Given the description of an element on the screen output the (x, y) to click on. 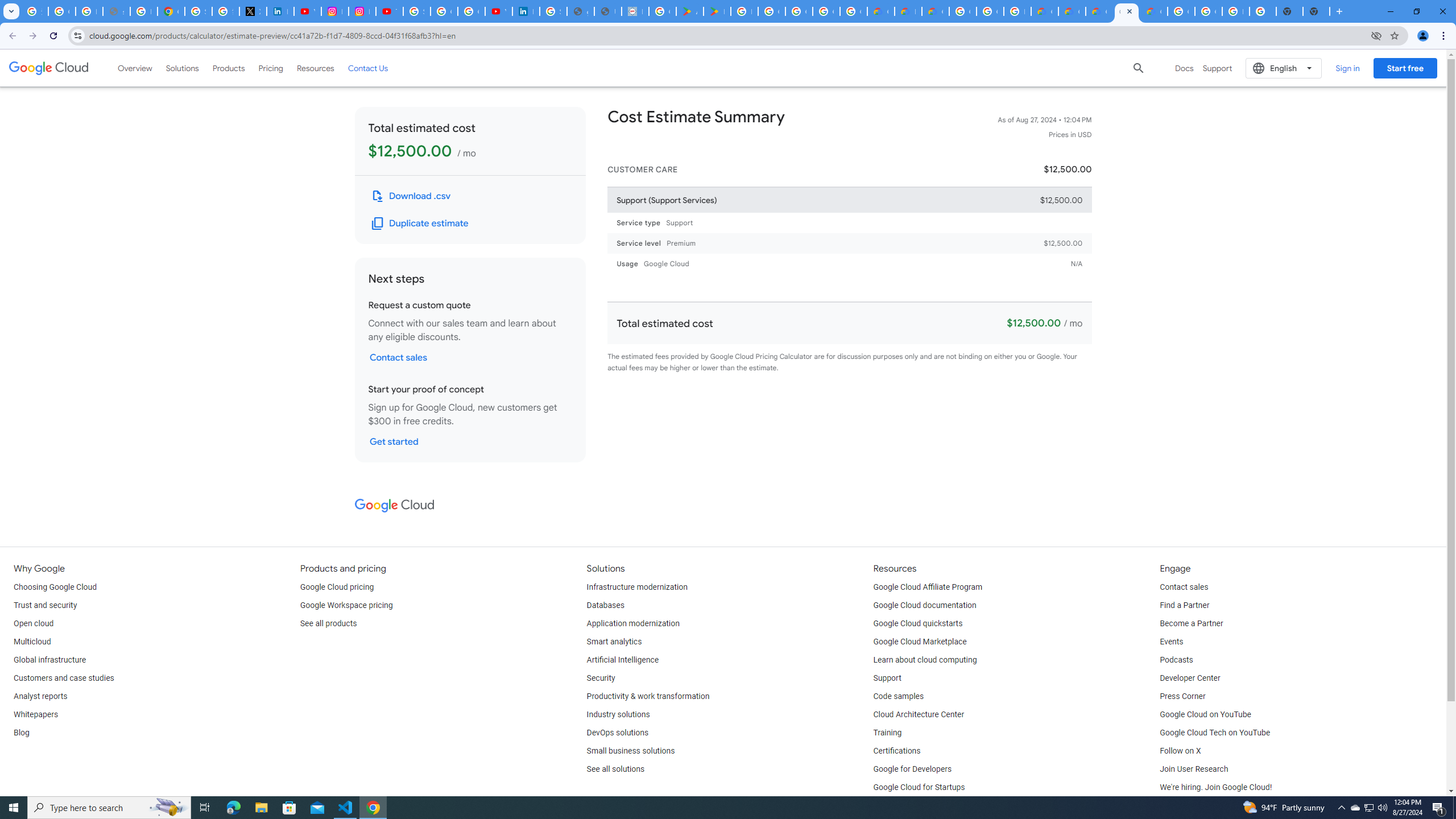
Google Cloud quickstarts (917, 624)
New Tab (1316, 11)
Cloud Architecture Center (918, 714)
Google Cloud Platform (990, 11)
Training (887, 732)
Artificial Intelligence (622, 660)
Join User Research (1193, 769)
PAW Patrol Rescue World - Apps on Google Play (716, 11)
support.google.com - Network error (116, 11)
Multicloud (31, 642)
Google Cloud (393, 505)
